Given the description of an element on the screen output the (x, y) to click on. 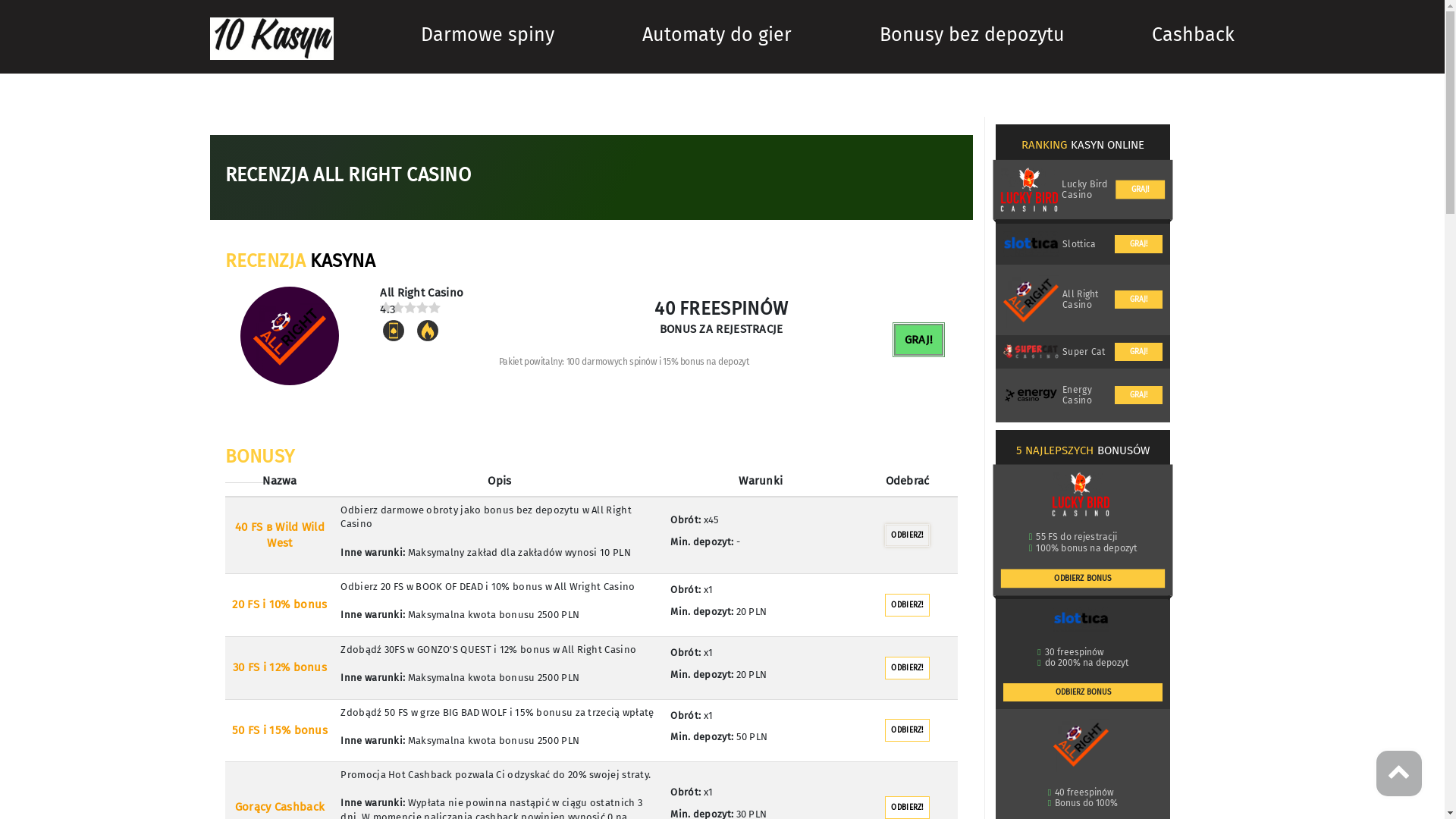
ODBIERZ! Element type: text (906, 604)
GRAJ! Element type: text (1138, 244)
Darmowe spiny Element type: text (487, 34)
GRAJ! Element type: text (1139, 189)
ODBIERZ BONUS Element type: text (1080, 577)
Super Cat Element type: text (1083, 350)
Slottica Element type: text (1078, 243)
GRAJ! Element type: text (1138, 394)
GRAJ! Element type: text (1138, 299)
Cashback Element type: text (1192, 34)
GRAJ! Element type: text (918, 339)
ODBIERZ! Element type: text (906, 667)
Automaty do gier Element type: text (716, 34)
Bonusy bez depozytu Element type: text (971, 34)
All Right Casino Element type: text (1084, 299)
Energy Casino Element type: text (1084, 394)
Lucky Bird Casino Element type: text (1083, 189)
ODBIERZ! Element type: text (906, 535)
ODBIERZ BONUS Element type: text (1082, 692)
ODBIERZ! Element type: text (906, 729)
GRAJ! Element type: text (1138, 351)
